Given the description of an element on the screen output the (x, y) to click on. 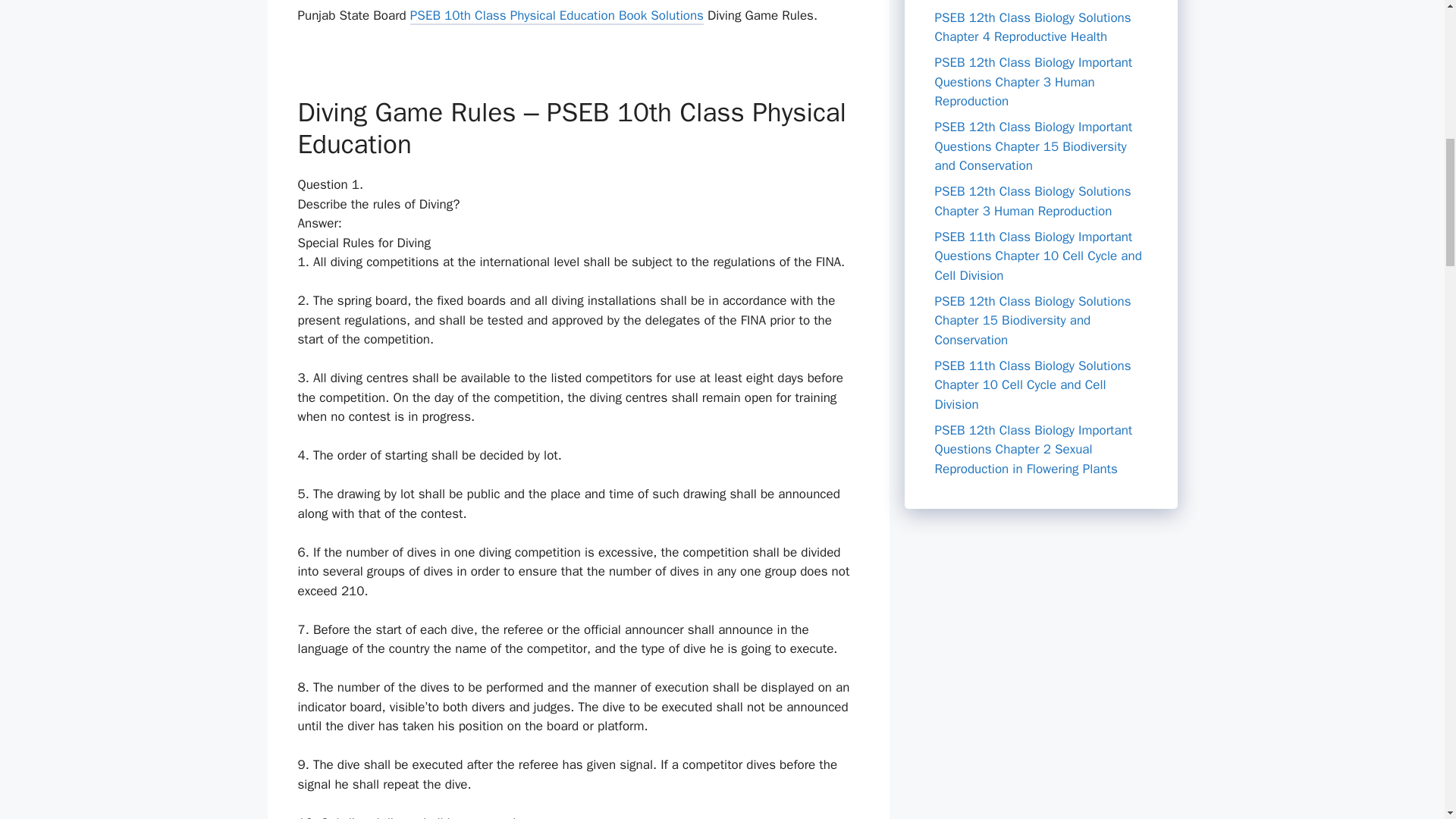
PSEB 10th Class Physical Education Book Solutions (556, 16)
